Given the description of an element on the screen output the (x, y) to click on. 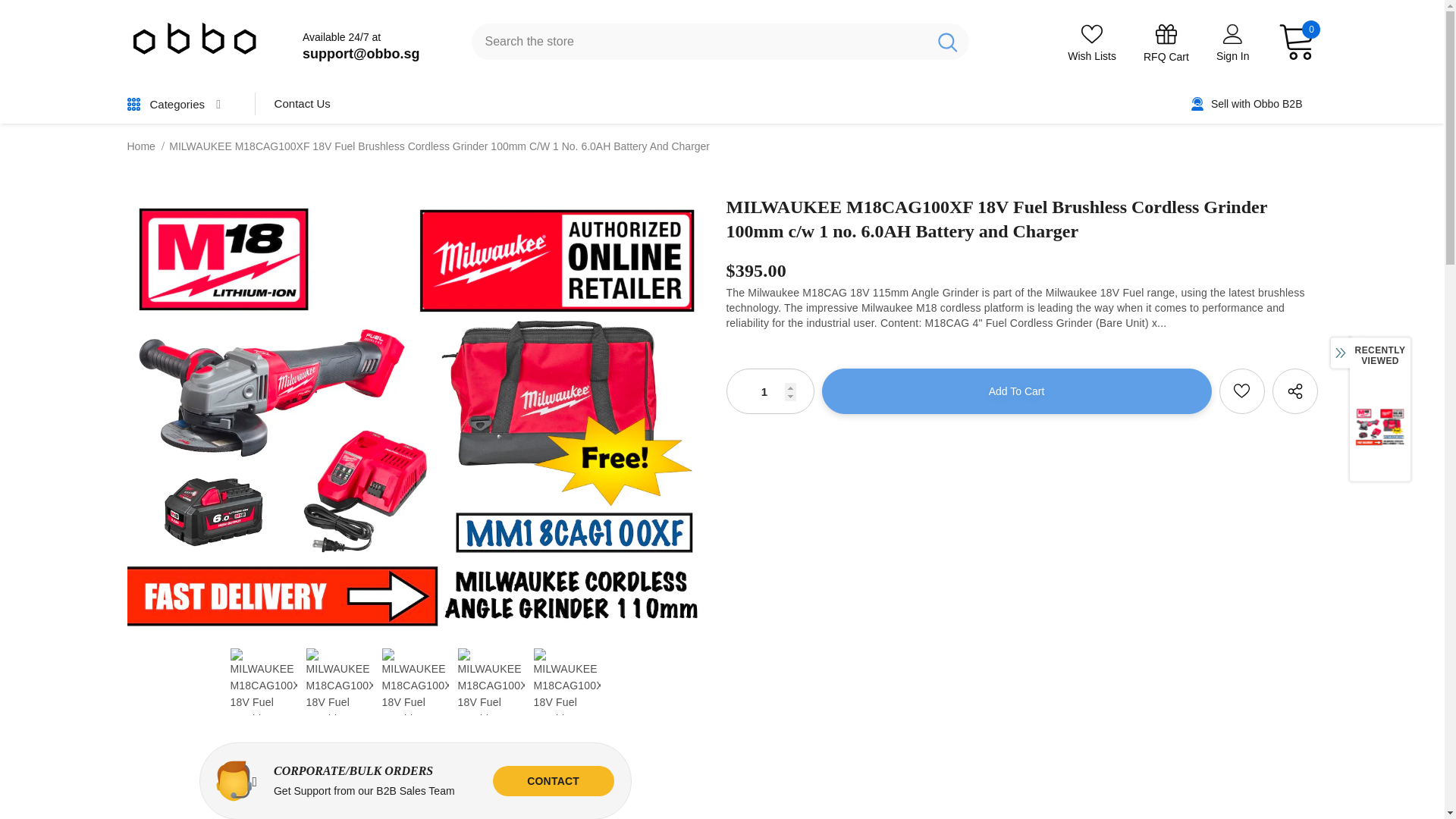
1 (769, 390)
Ask An Expert (553, 780)
0 (1297, 45)
Add to cart (1016, 391)
Wish Lists (1091, 42)
Sign In (1232, 55)
RFQ Cart (1165, 43)
Cart (1297, 45)
User Icon (1232, 33)
Logo (195, 41)
